Given the description of an element on the screen output the (x, y) to click on. 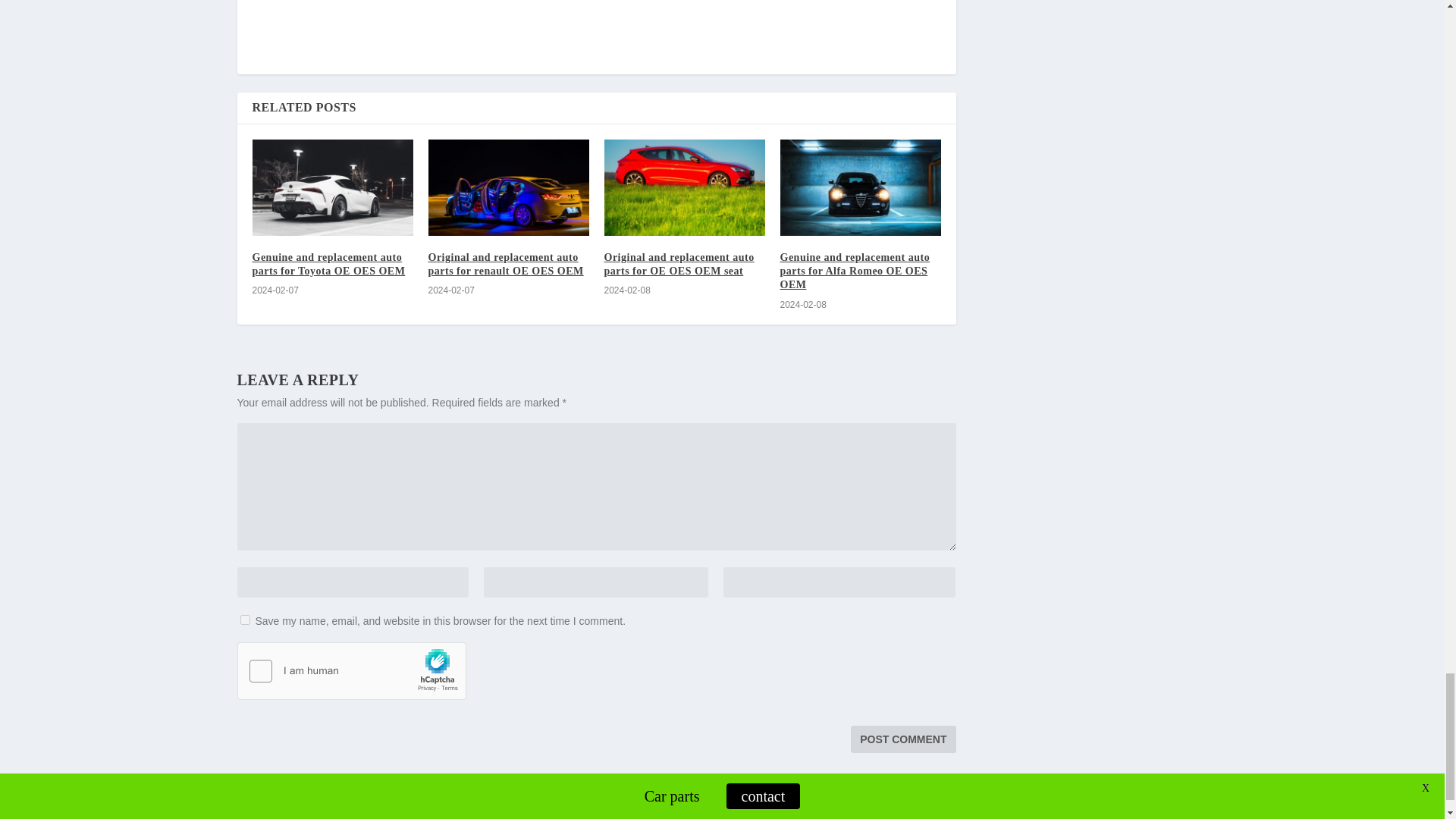
Post Comment (902, 738)
yes (244, 619)
